Given the description of an element on the screen output the (x, y) to click on. 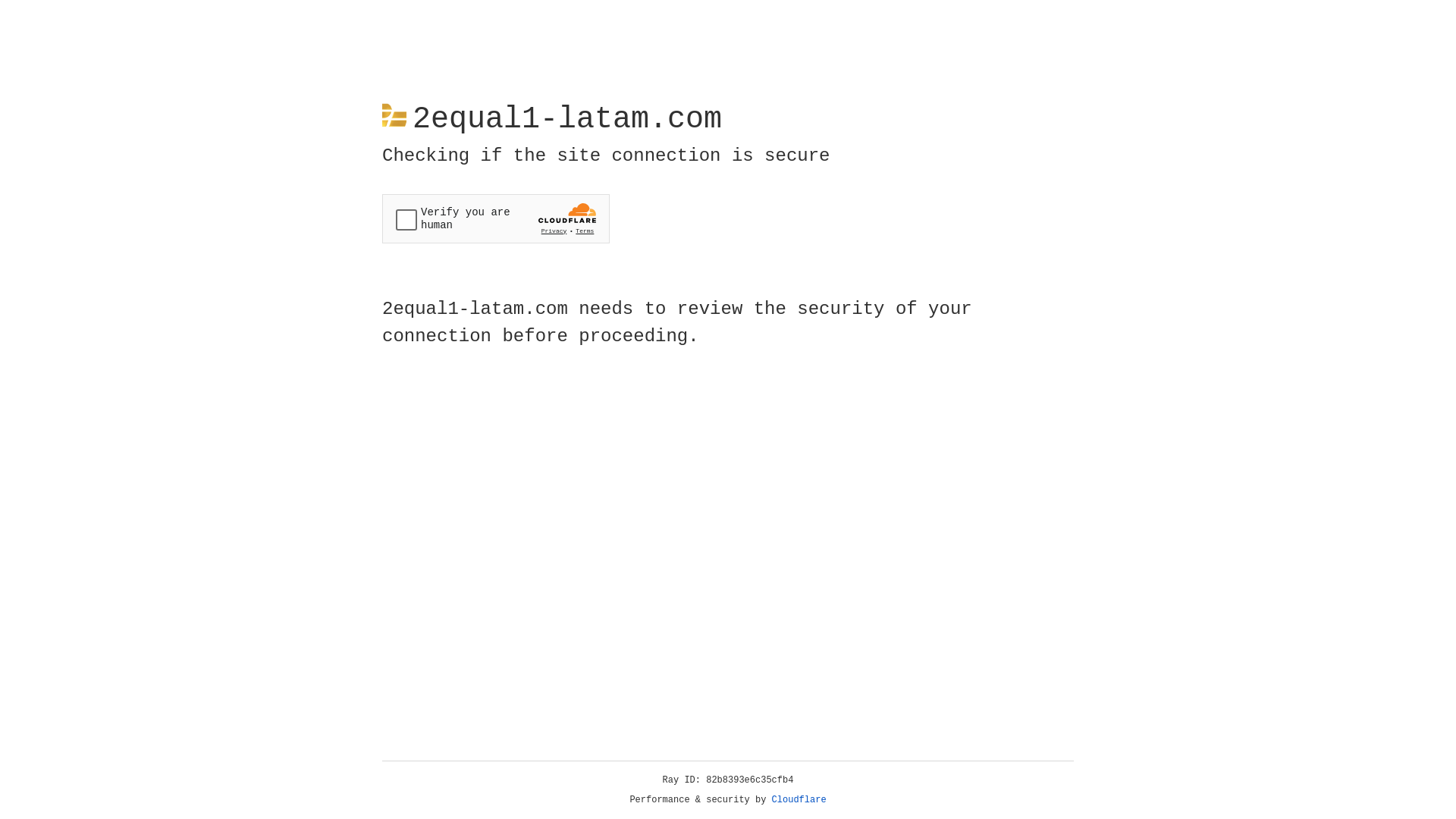
Widget containing a Cloudflare security challenge Element type: hover (495, 218)
Cloudflare Element type: text (798, 799)
